Given the description of an element on the screen output the (x, y) to click on. 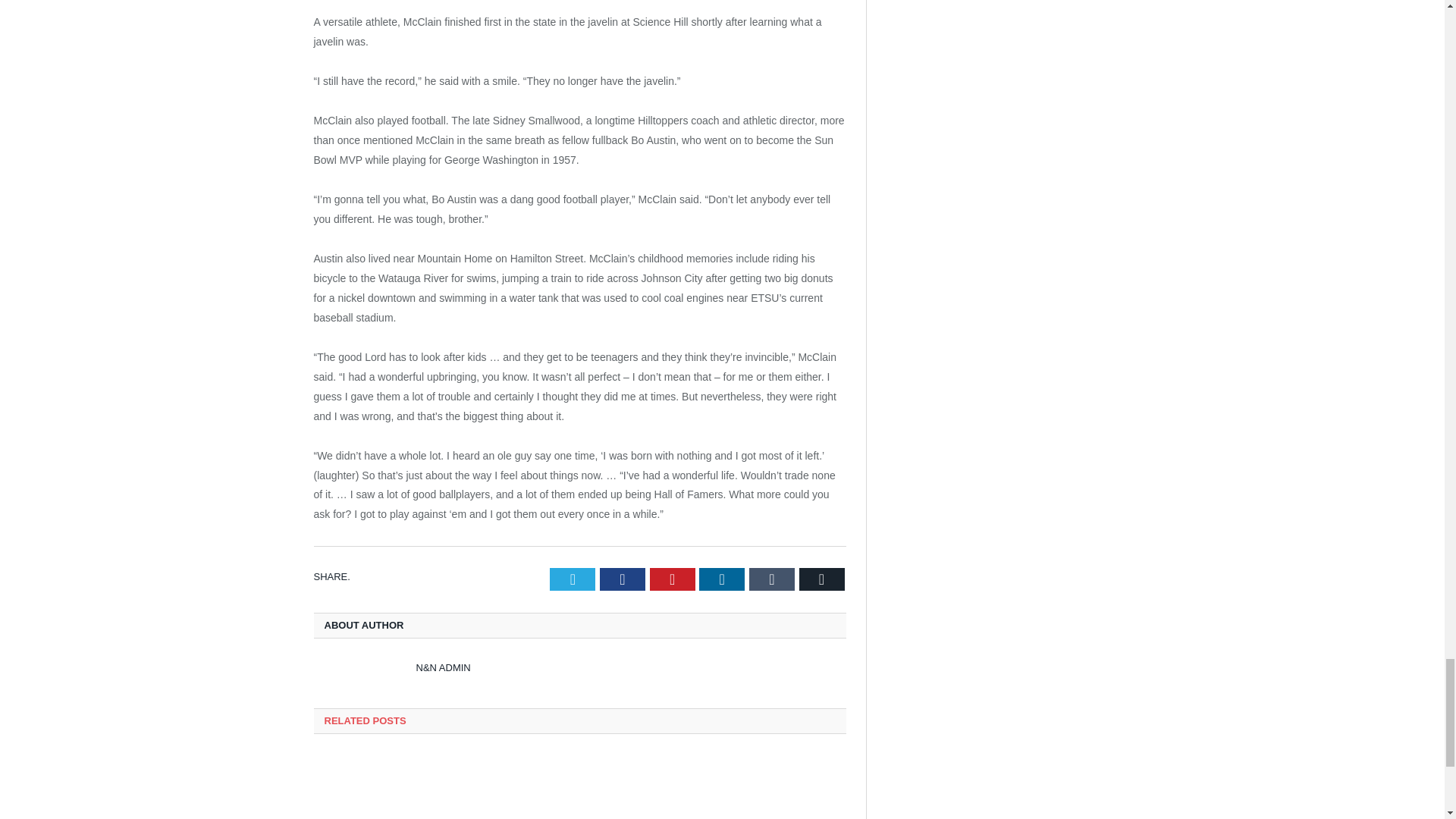
Pinterest (672, 579)
Solar eclipse in the park at Sycamore Shoals (579, 787)
Facebook (622, 579)
Twitter (572, 579)
